Given the description of an element on the screen output the (x, y) to click on. 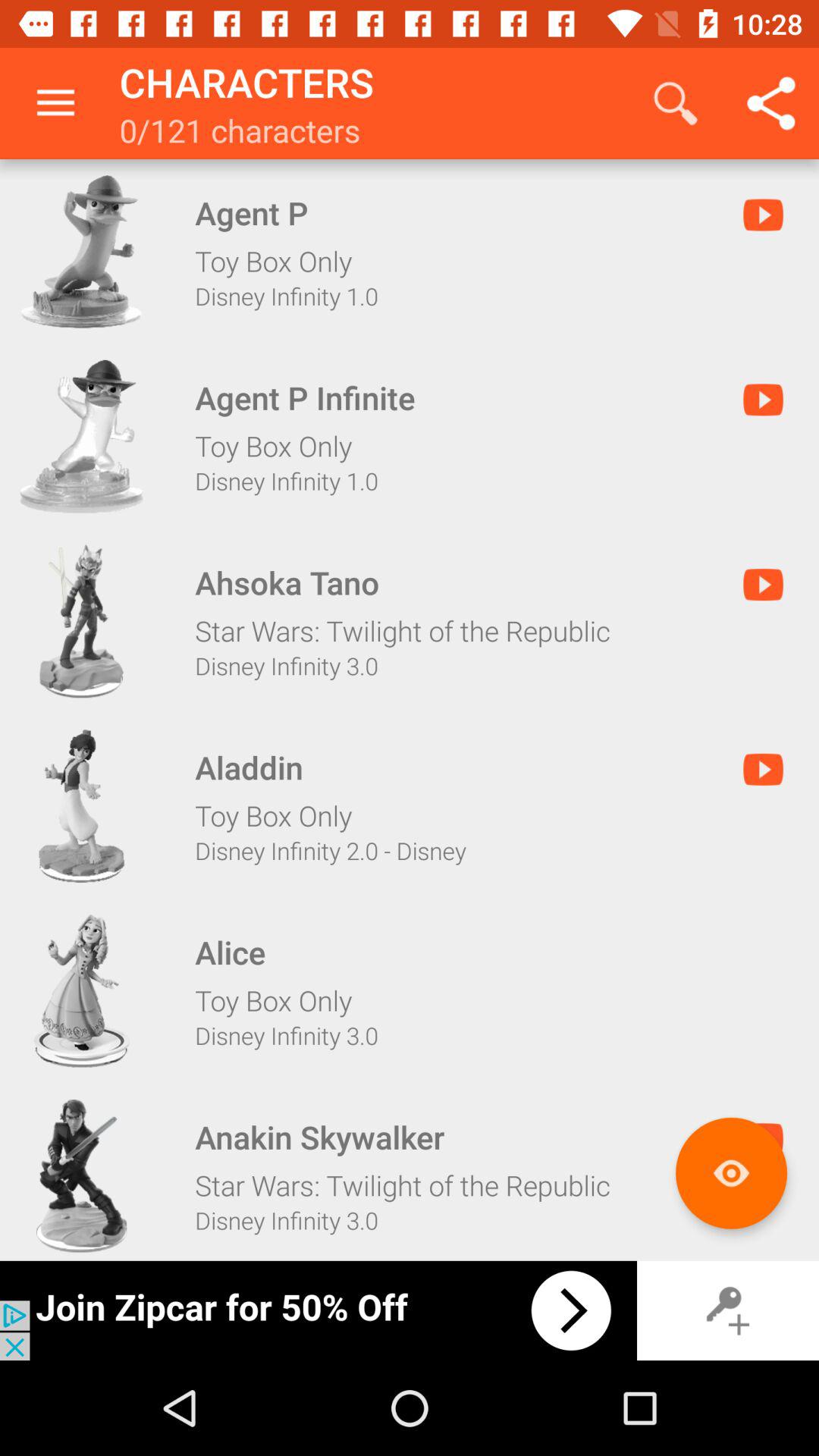
key option (728, 1310)
